Given the description of an element on the screen output the (x, y) to click on. 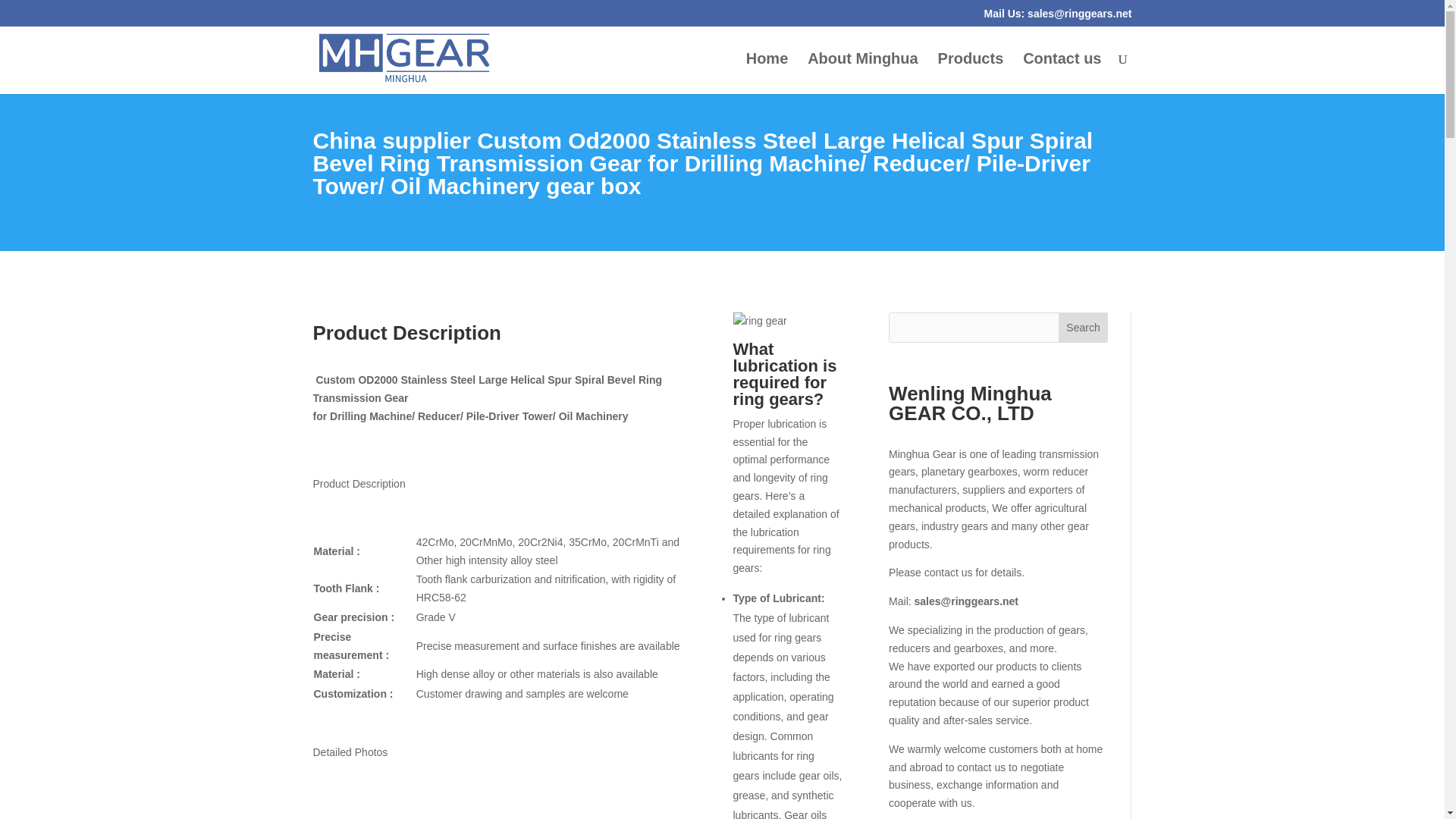
Home (767, 73)
About Minghua (863, 73)
Contact us (1061, 73)
Products (970, 73)
Search (1083, 327)
